Given the description of an element on the screen output the (x, y) to click on. 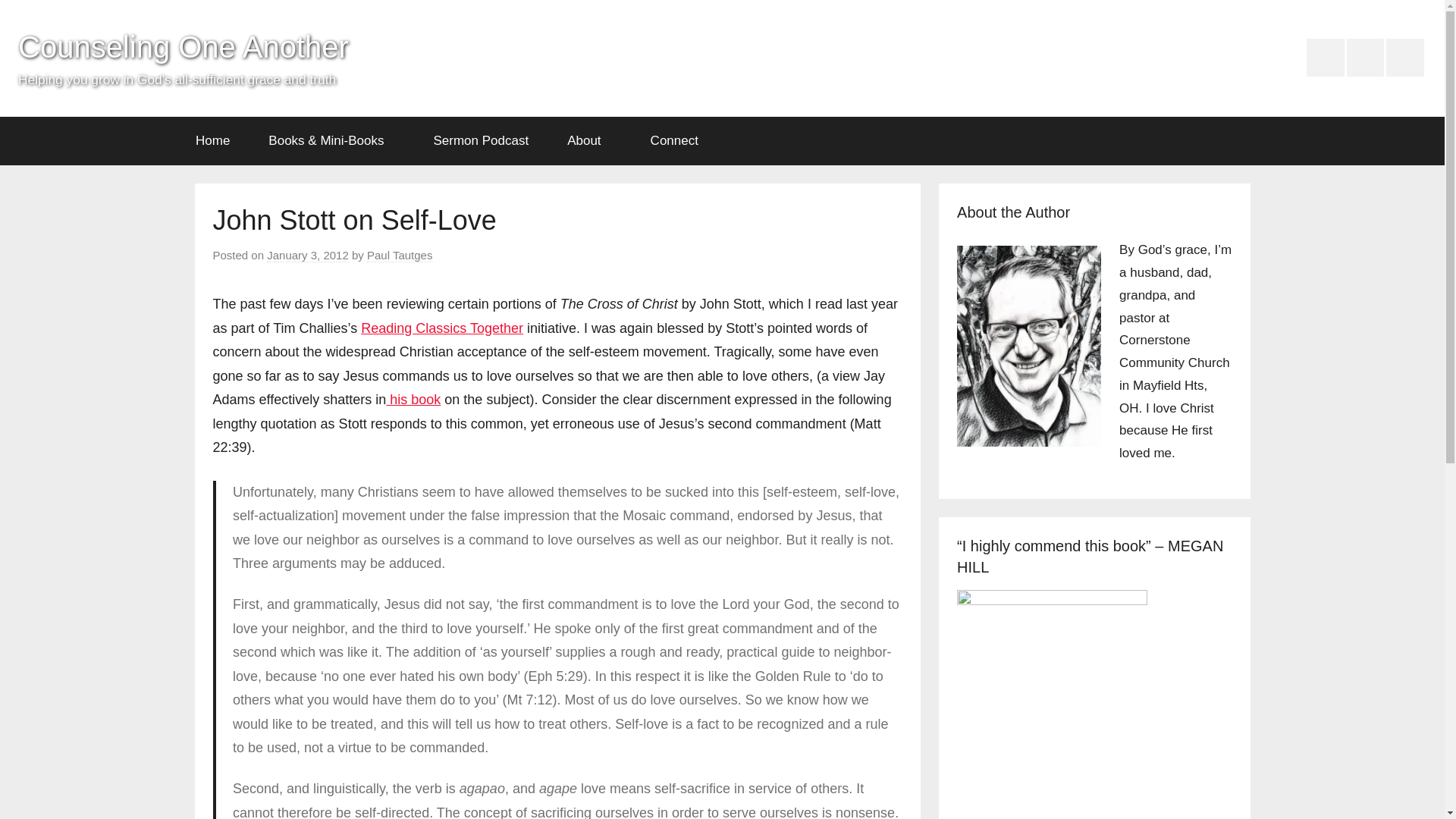
Twitter (1404, 57)
Home (212, 141)
Search (1227, 141)
Paul Tautges (399, 255)
RSS (1365, 57)
Reading Classics Together (441, 328)
Facebook (1324, 57)
Sermon Podcast (480, 141)
Counseling One Another (183, 46)
About (589, 141)
Connect (679, 141)
his book (413, 399)
View all posts by Paul Tautges (399, 255)
January 3, 2012 (307, 255)
